Given the description of an element on the screen output the (x, y) to click on. 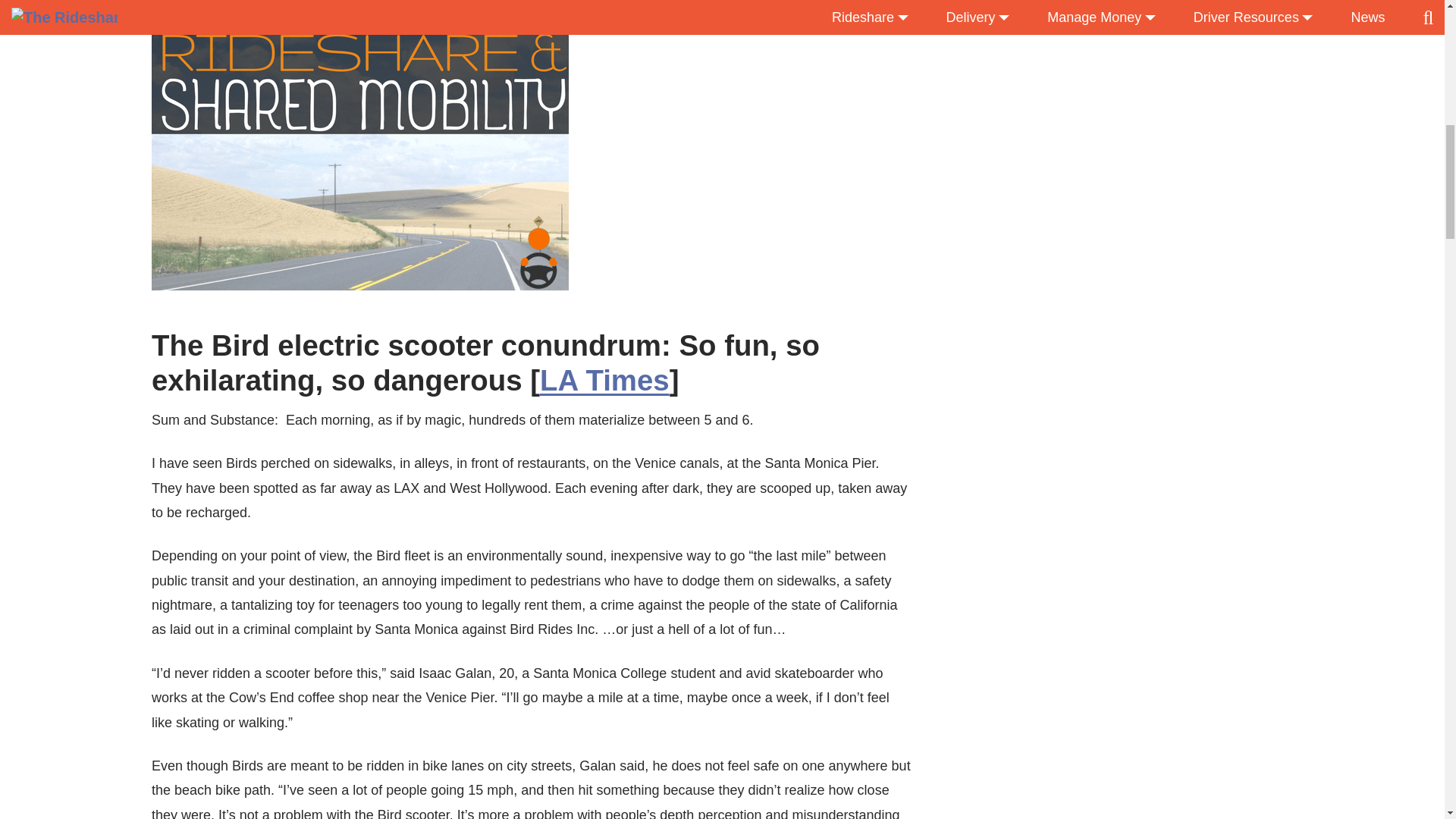
LA Times (604, 379)
